Given the description of an element on the screen output the (x, y) to click on. 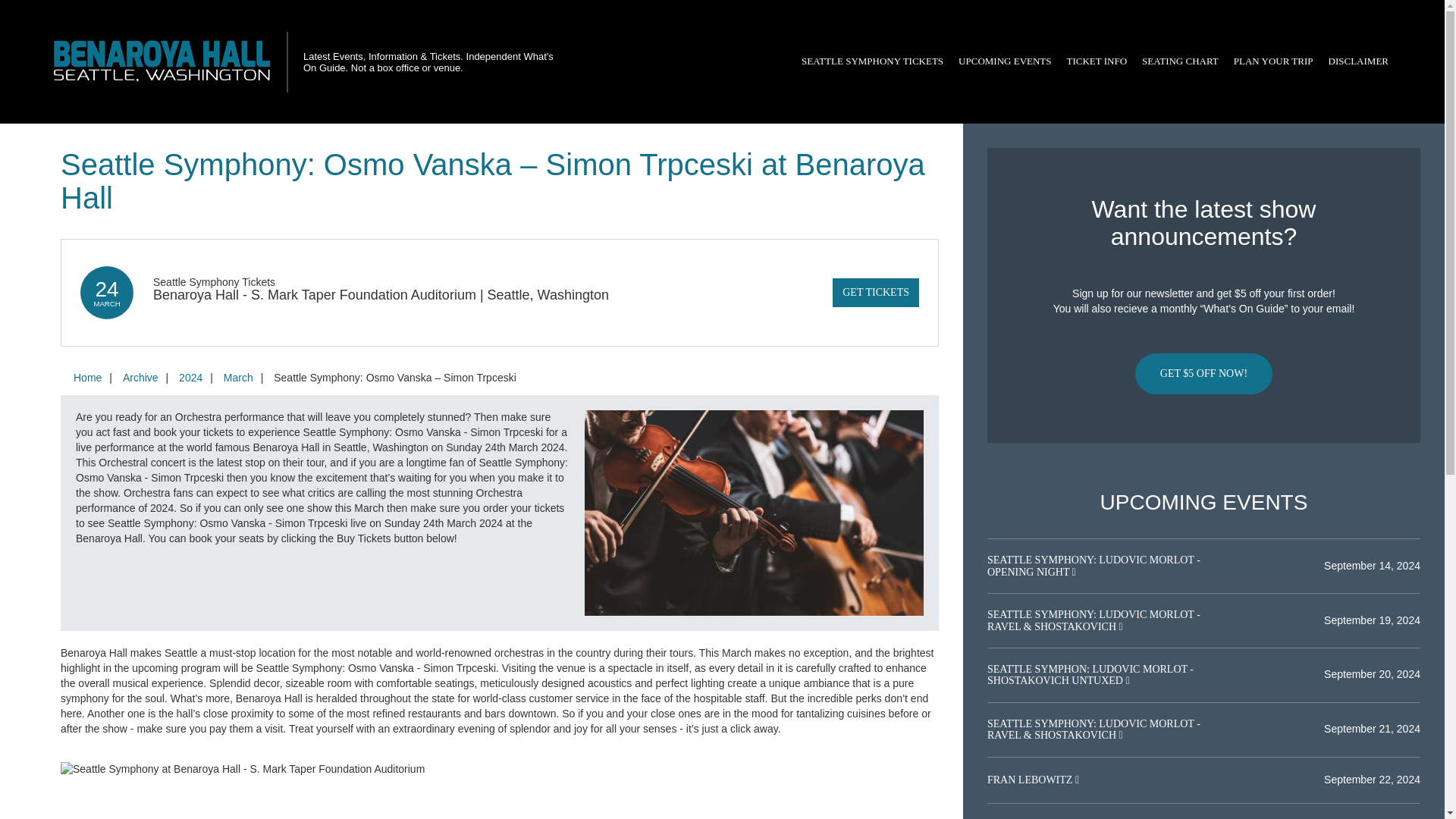
Archive (140, 377)
TICKET INFO (1097, 61)
Seattle Symphony Tickets (213, 282)
Home (87, 377)
2024 (190, 377)
March (237, 377)
PLAN YOUR TRIP (1272, 61)
SEATTLE SYMPHONY TICKETS (871, 61)
SEATING CHART (1179, 61)
DISCLAIMER (1358, 61)
